Given the description of an element on the screen output the (x, y) to click on. 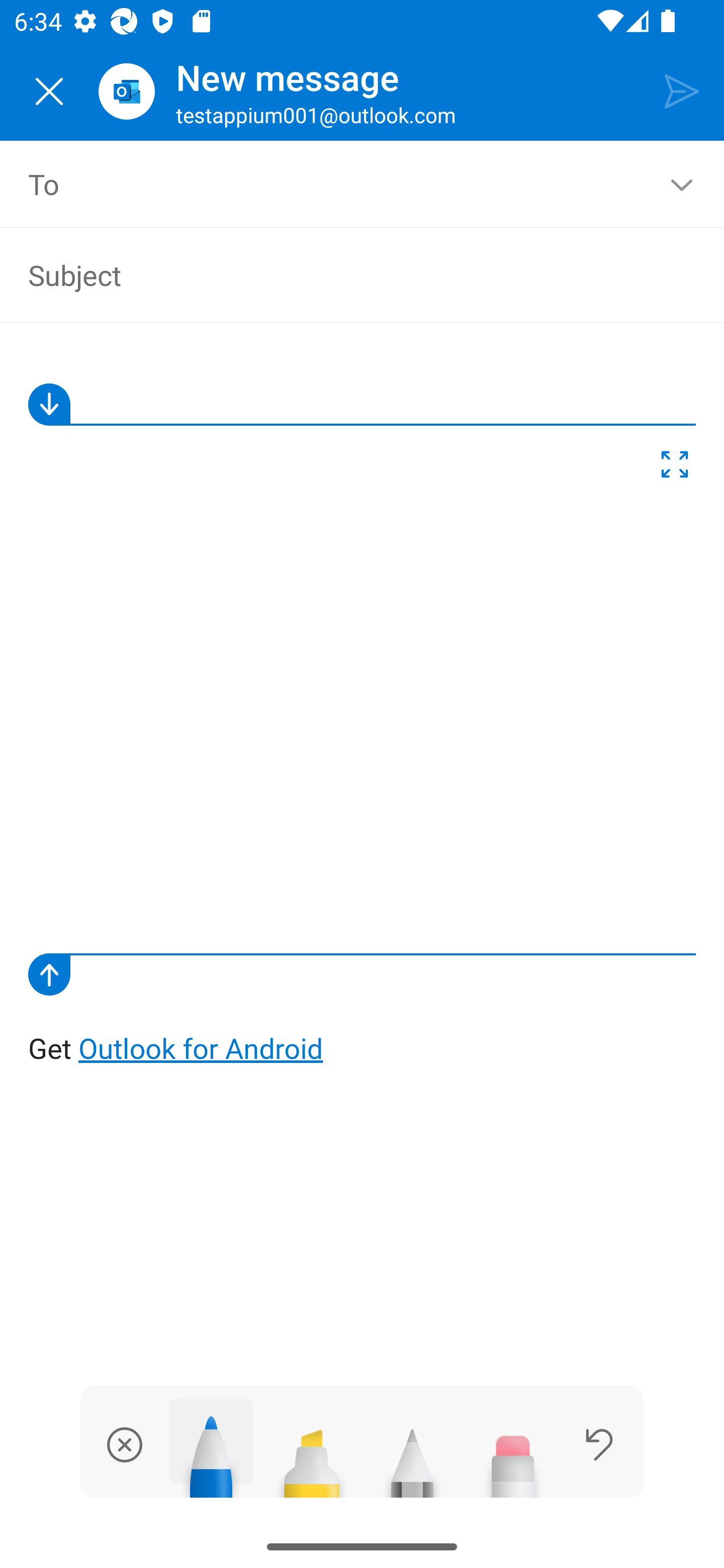
Close (49, 91)
Send (681, 90)
Subject (347, 274)


Get Outlook for Android (363, 707)
Canvas upper bound (362, 404)
Expand Drawing (674, 467)
Canvas Lower Bound (362, 974)
Pen tool (210, 1447)
dismiss ink and save drawing (124, 1444)
Undo last stroke (598, 1444)
Highlighter tool (311, 1455)
Pencil tool (411, 1455)
Eraser tool (512, 1455)
